Given the description of an element on the screen output the (x, y) to click on. 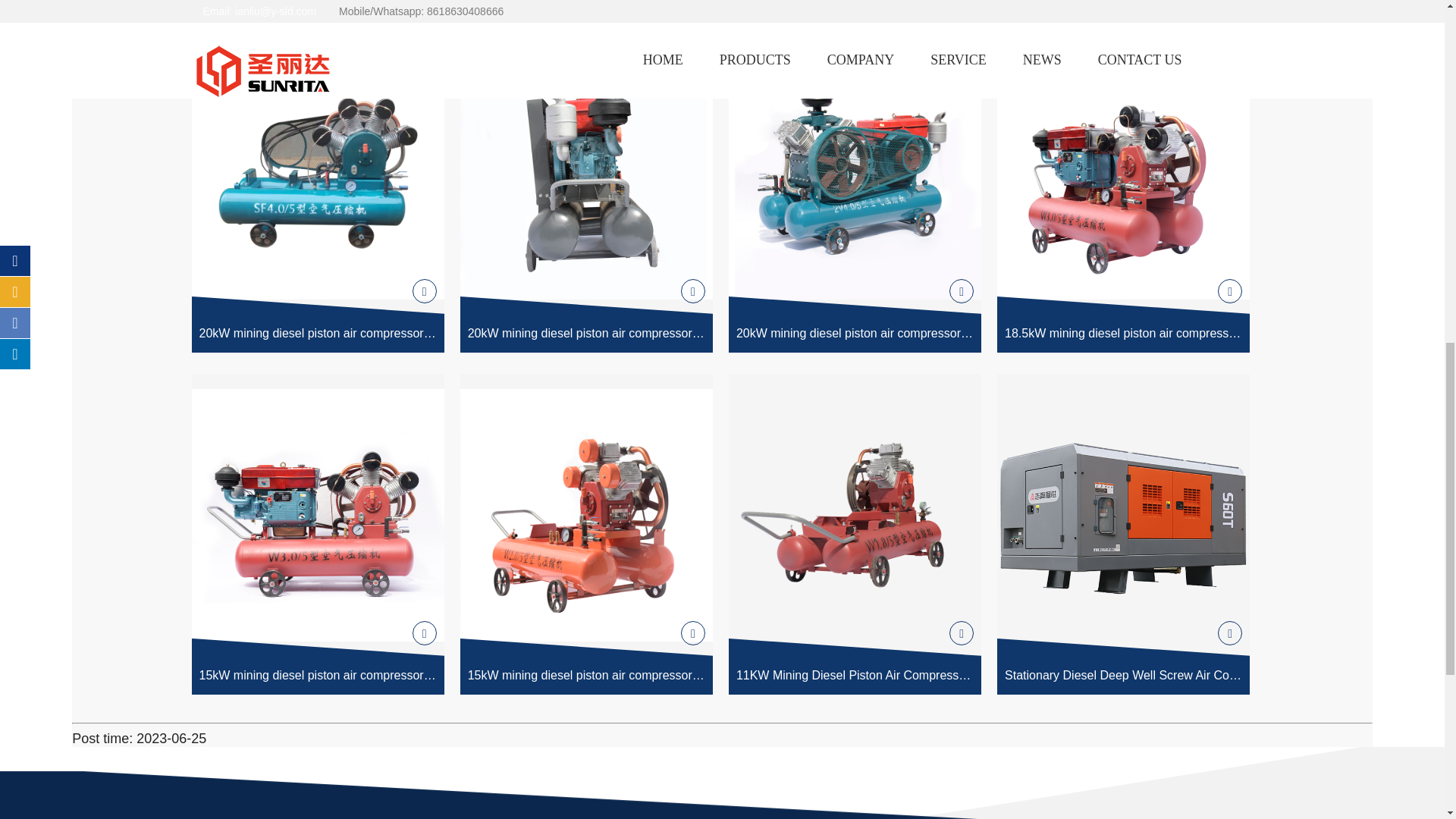
20kW mining diesel piston air compressor W3.2-7 (586, 191)
20kW mining diesel piston air compressor SF4.0-5 (317, 191)
20kW mining diesel piston air compressor 2V4.0-5 (855, 191)
